Given the description of an element on the screen output the (x, y) to click on. 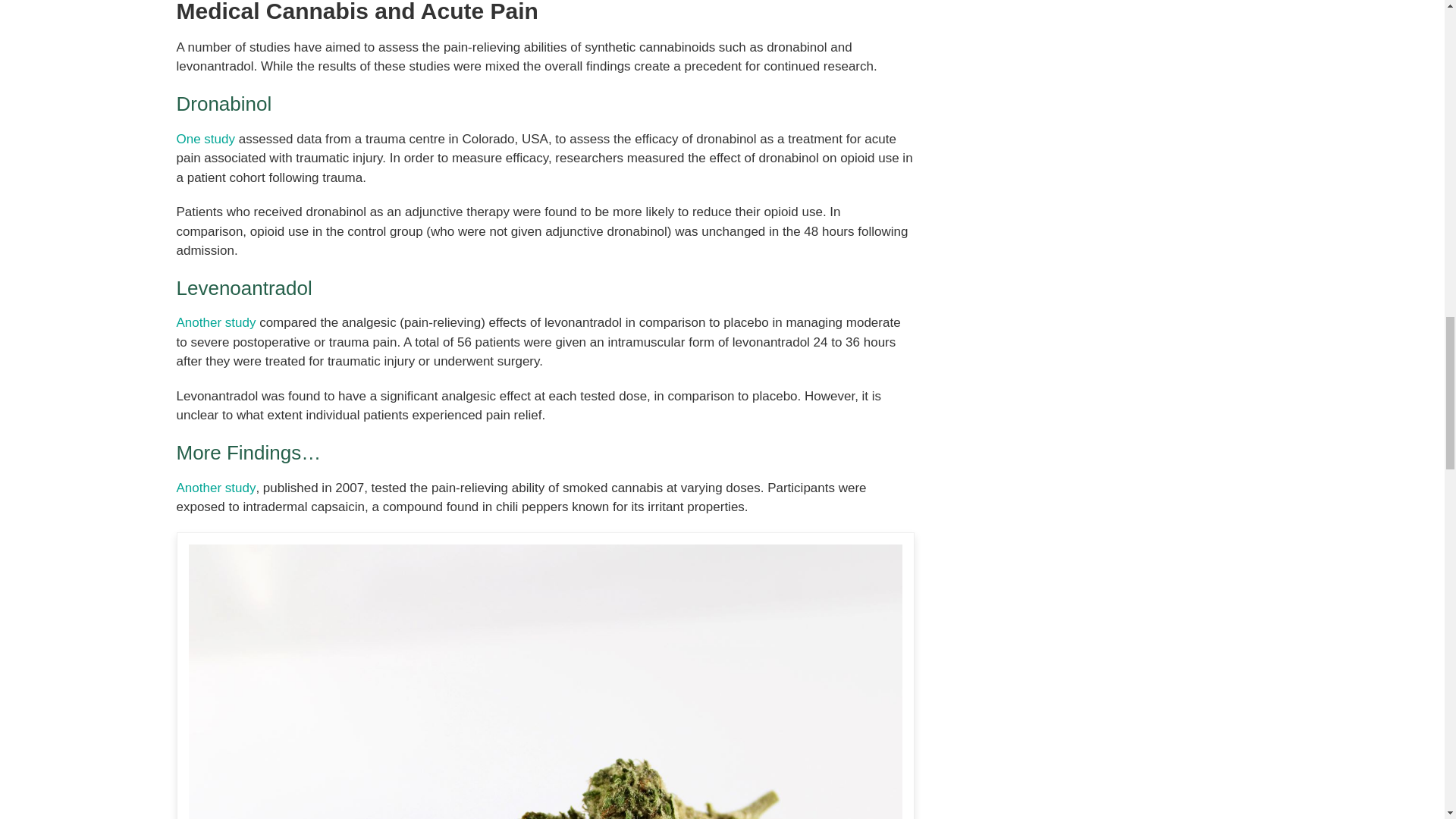
Another study (216, 322)
Another study (216, 487)
One study (205, 138)
